Given the description of an element on the screen output the (x, y) to click on. 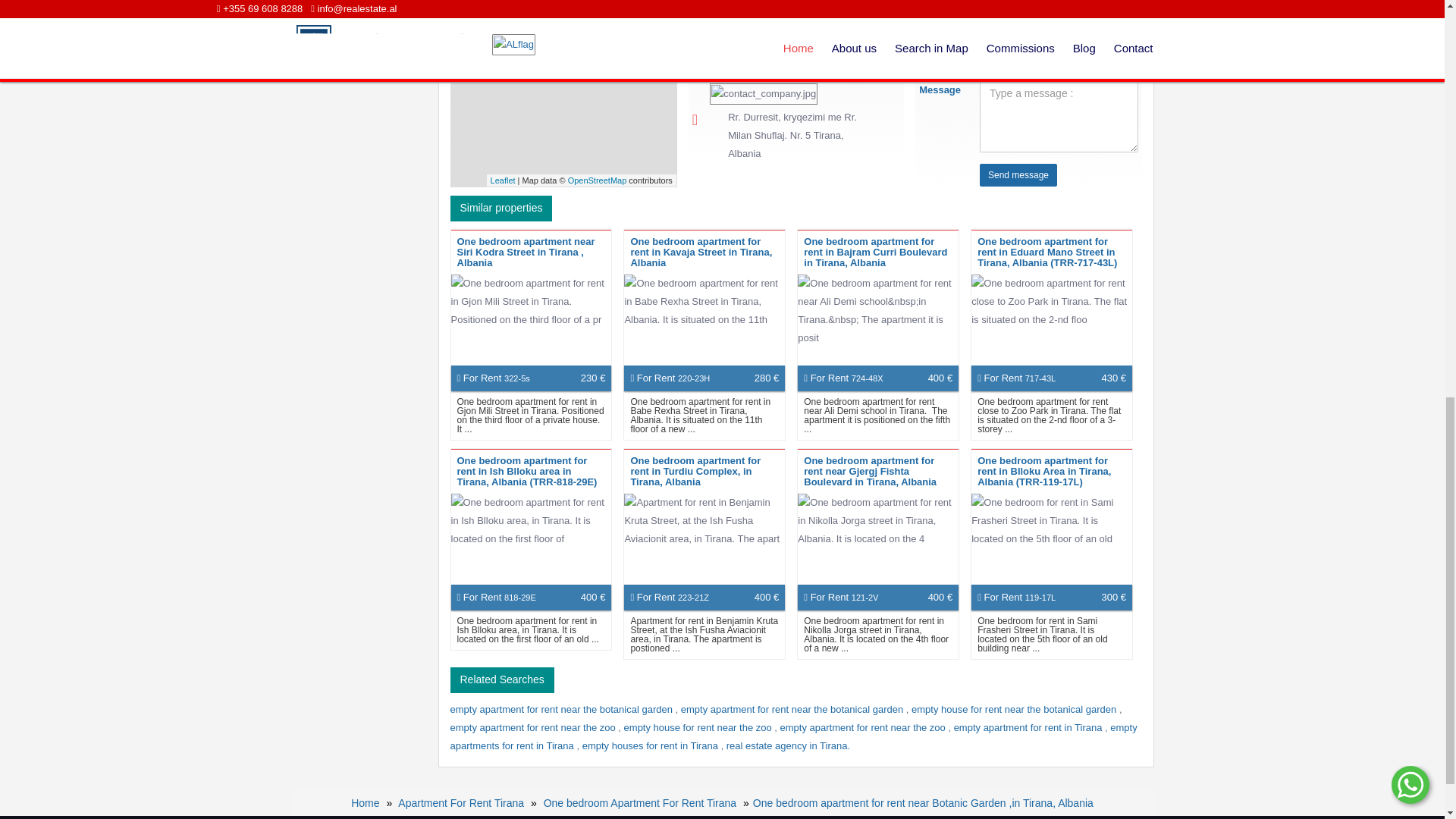
OpenStreetMap (597, 180)
empty apartment for rent in Tirana (1029, 727)
Leaflet (502, 180)
empty apartment for rent near the zoo (533, 727)
Related Searches (501, 679)
empty apartment for rent near the zoo (864, 727)
Similar properties (501, 208)
empty apartment for rent near the botanical garden (793, 708)
A JS library for interactive maps (502, 180)
empty house for rent near the zoo (699, 727)
Zoom out (467, 3)
empty house for rent near the botanical garden (1015, 708)
